Given the description of an element on the screen output the (x, y) to click on. 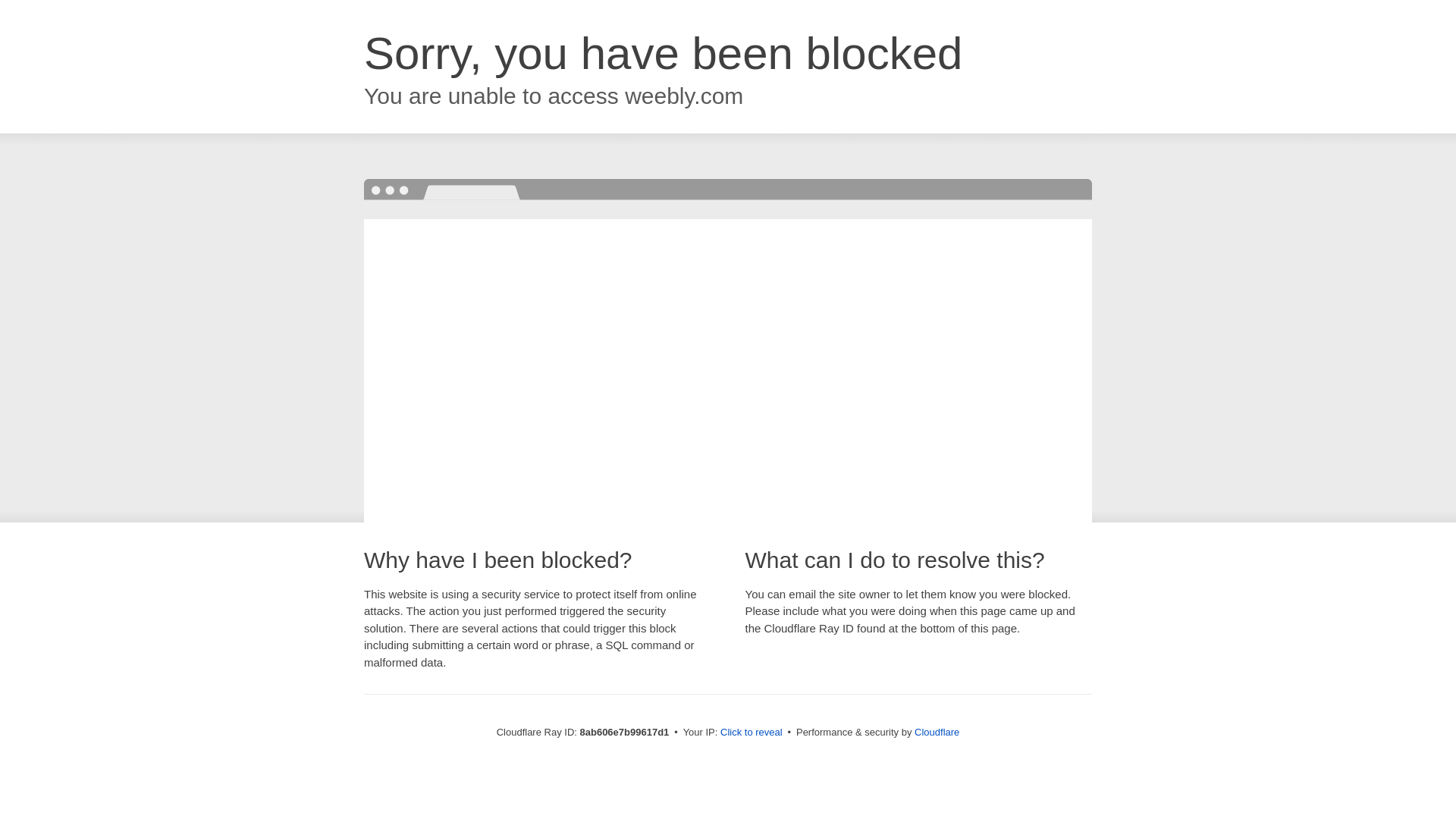
Click to reveal (751, 732)
Cloudflare (936, 731)
